Given the description of an element on the screen output the (x, y) to click on. 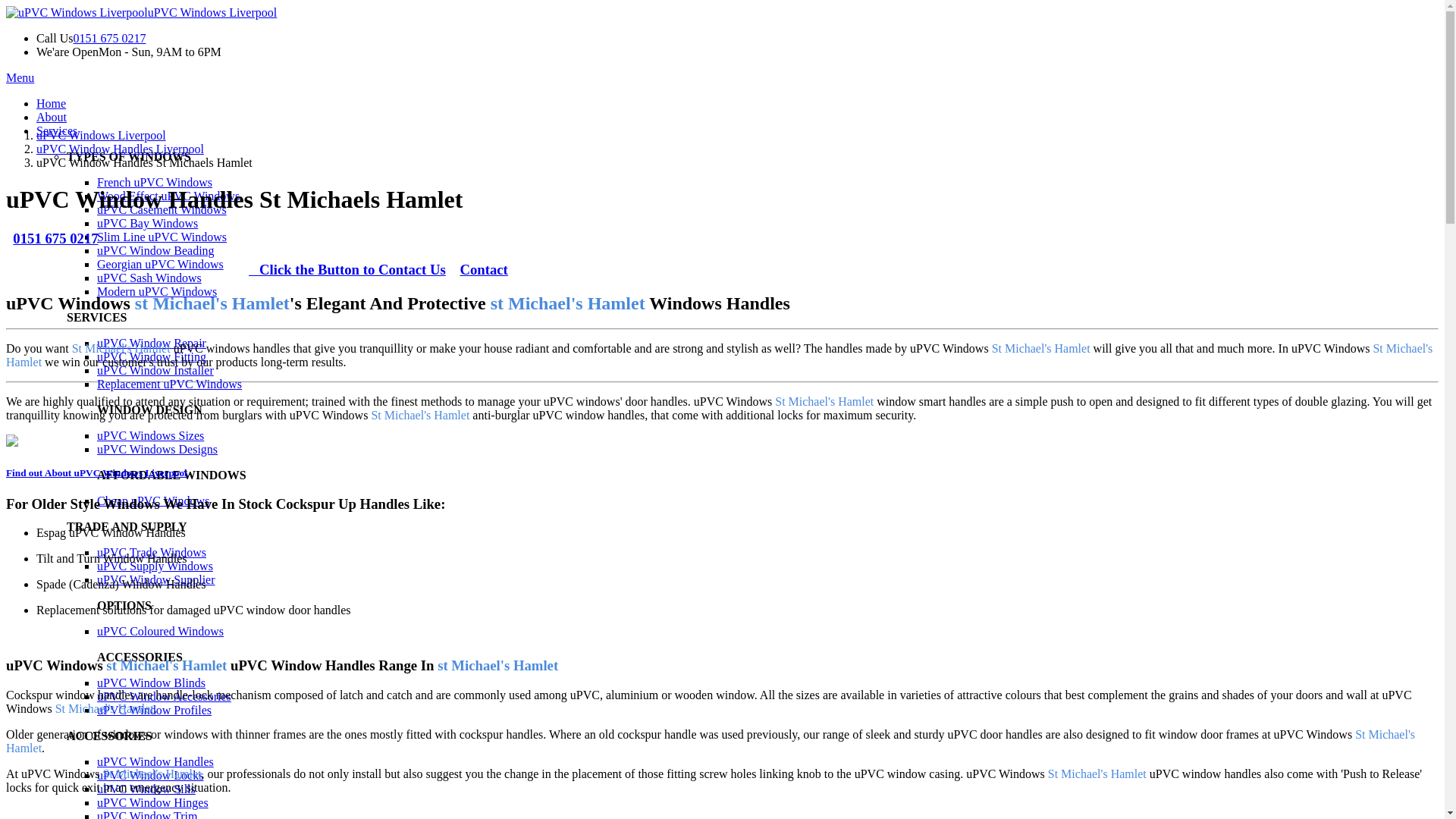
uPVC Window Locks (150, 775)
uPVC Windows Liverpool (140, 11)
Cheap uPVC Windows (153, 500)
Replacement uPVC Windows (169, 383)
French uPVC Windows (154, 182)
uPVC Window Repair (151, 342)
uPVC Window Hinges (152, 802)
uPVC Windows Sizes (150, 435)
uPVC Window Beading (155, 250)
0151 675 0217 (108, 38)
